Given the description of an element on the screen output the (x, y) to click on. 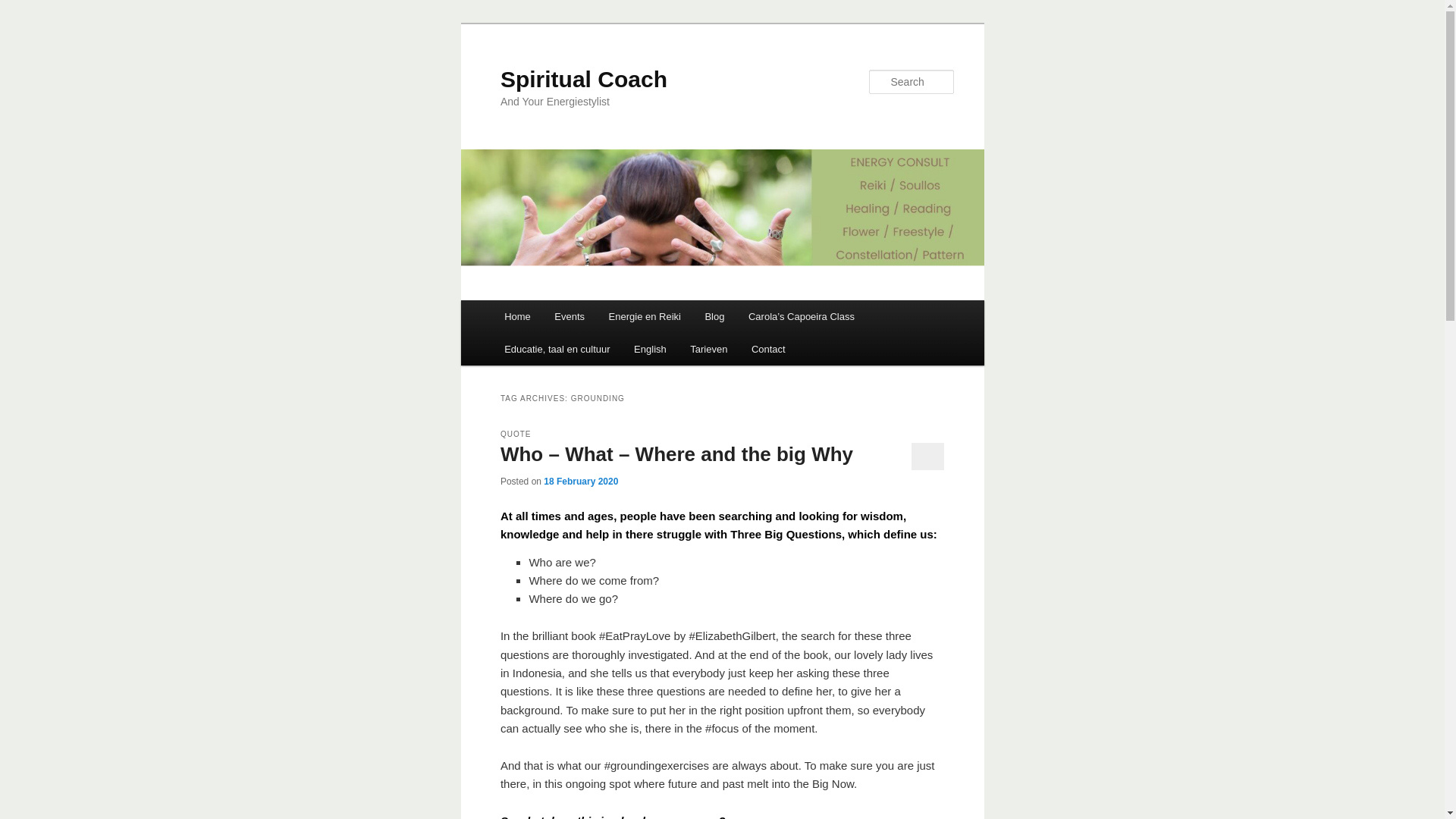
Energie en Reiki (644, 316)
English (649, 348)
Events (569, 316)
Educatie, taal en cultuur (556, 348)
Blog (714, 316)
Contact (767, 348)
1:53 pm (580, 480)
Search (24, 8)
Spiritual Coach (583, 78)
18 February 2020 (580, 480)
Home (516, 316)
Tarieven (708, 348)
